Given the description of an element on the screen output the (x, y) to click on. 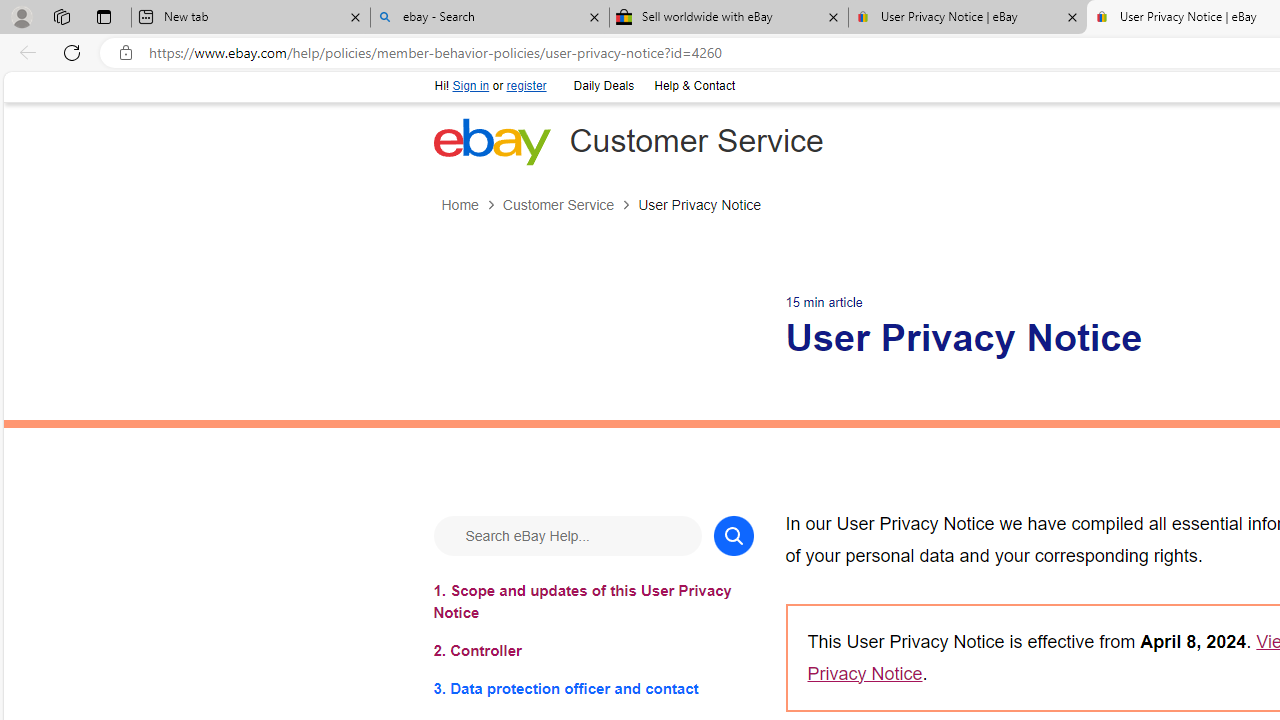
Help & Contact (692, 84)
3. Data protection officer and contact (592, 687)
User Privacy Notice | eBay (967, 17)
Search eBay Help... (566, 534)
3. Data protection officer and contact (592, 687)
eBay Home (491, 141)
Daily Deals (602, 84)
1. Scope and updates of this User Privacy Notice (592, 601)
eBay Home (491, 141)
